Given the description of an element on the screen output the (x, y) to click on. 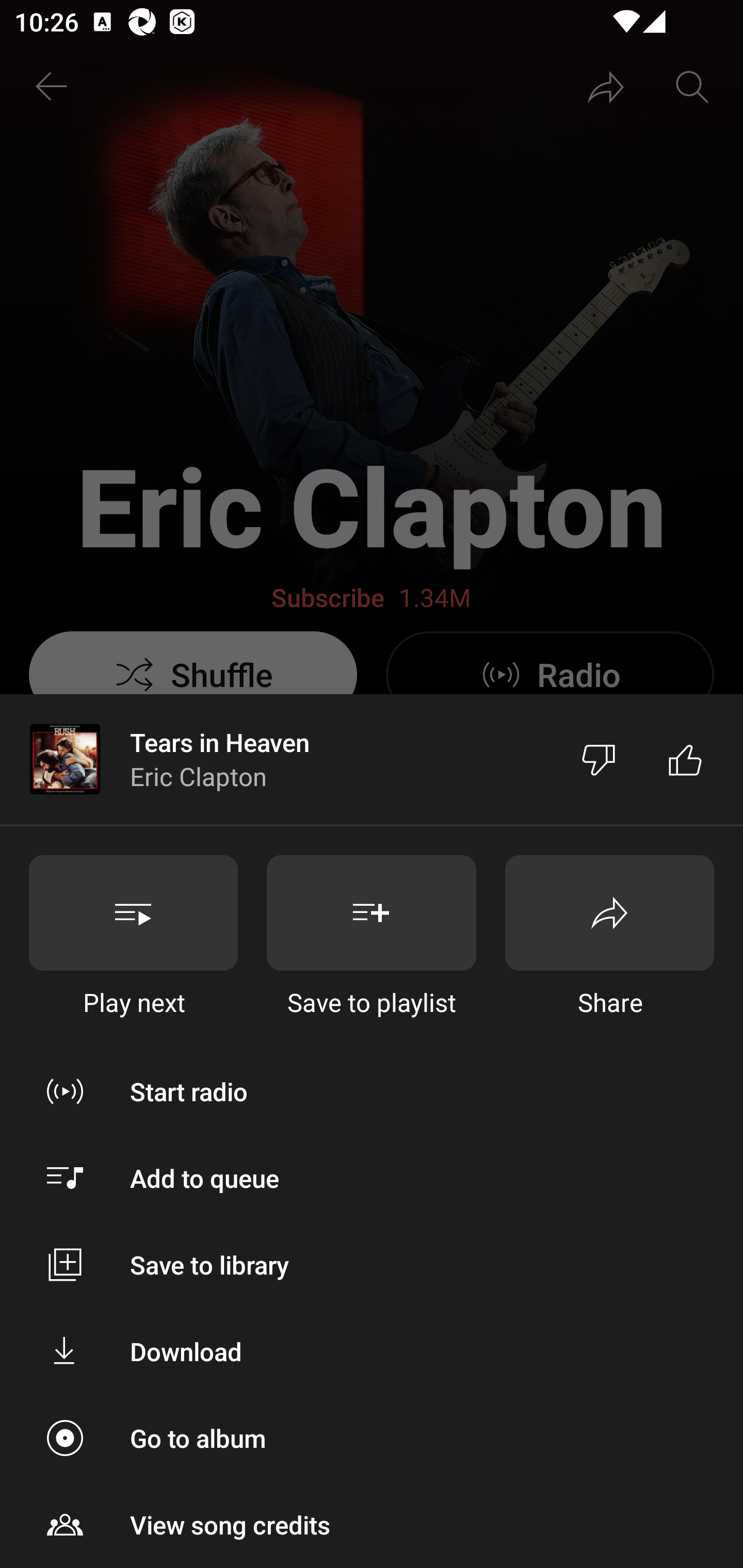
Dislike (598, 759)
Like (684, 759)
Start radio (371, 1091)
Add to queue (371, 1178)
Save to library (371, 1264)
Download (371, 1350)
Go to album (371, 1437)
View song credits (371, 1524)
